Given the description of an element on the screen output the (x, y) to click on. 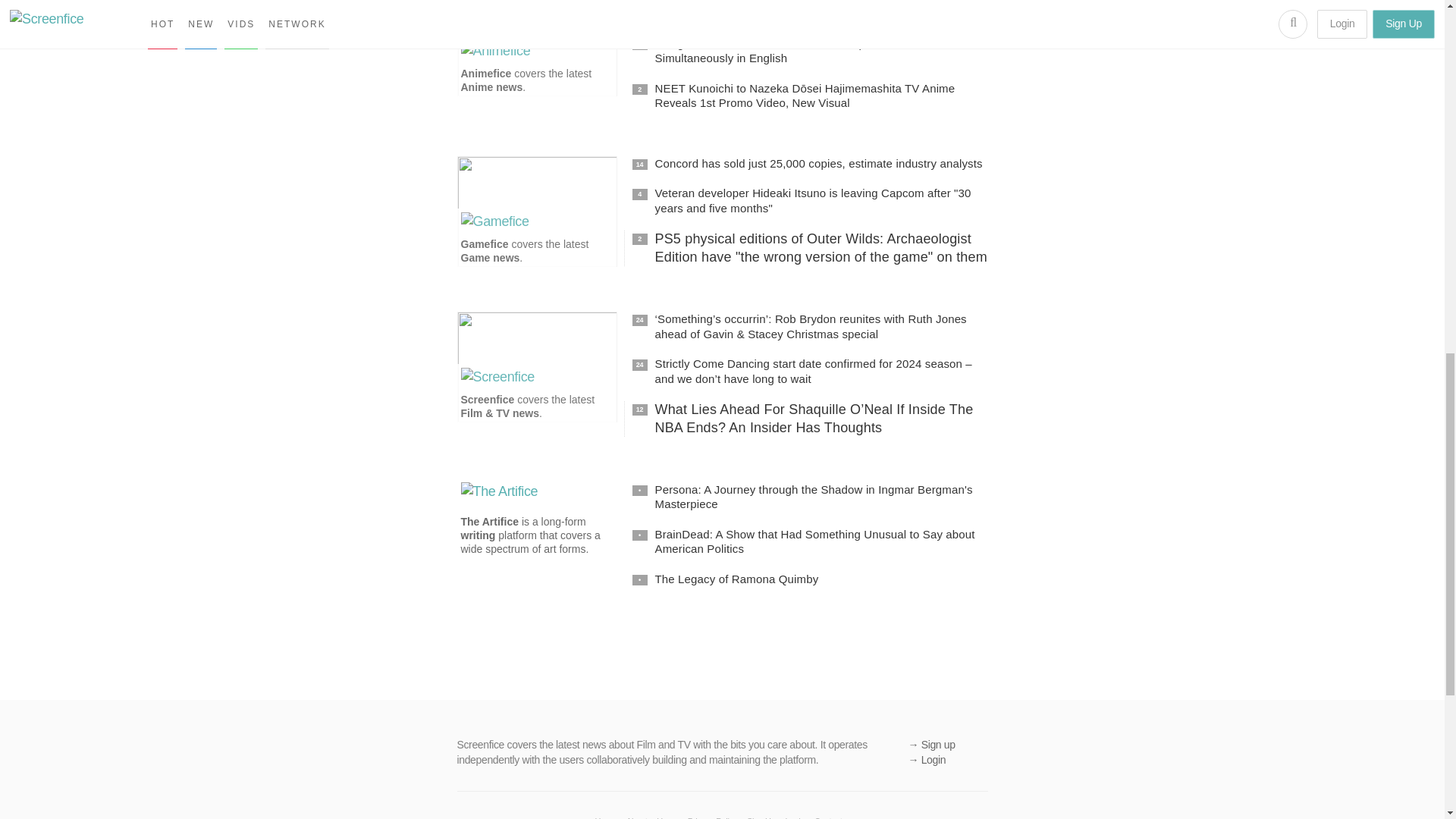
Game news (490, 257)
Gamefice (484, 244)
Anime news (491, 87)
Visit post (809, 51)
Visit post (809, 248)
Animefice (486, 73)
Visit post (809, 95)
